Given the description of an element on the screen output the (x, y) to click on. 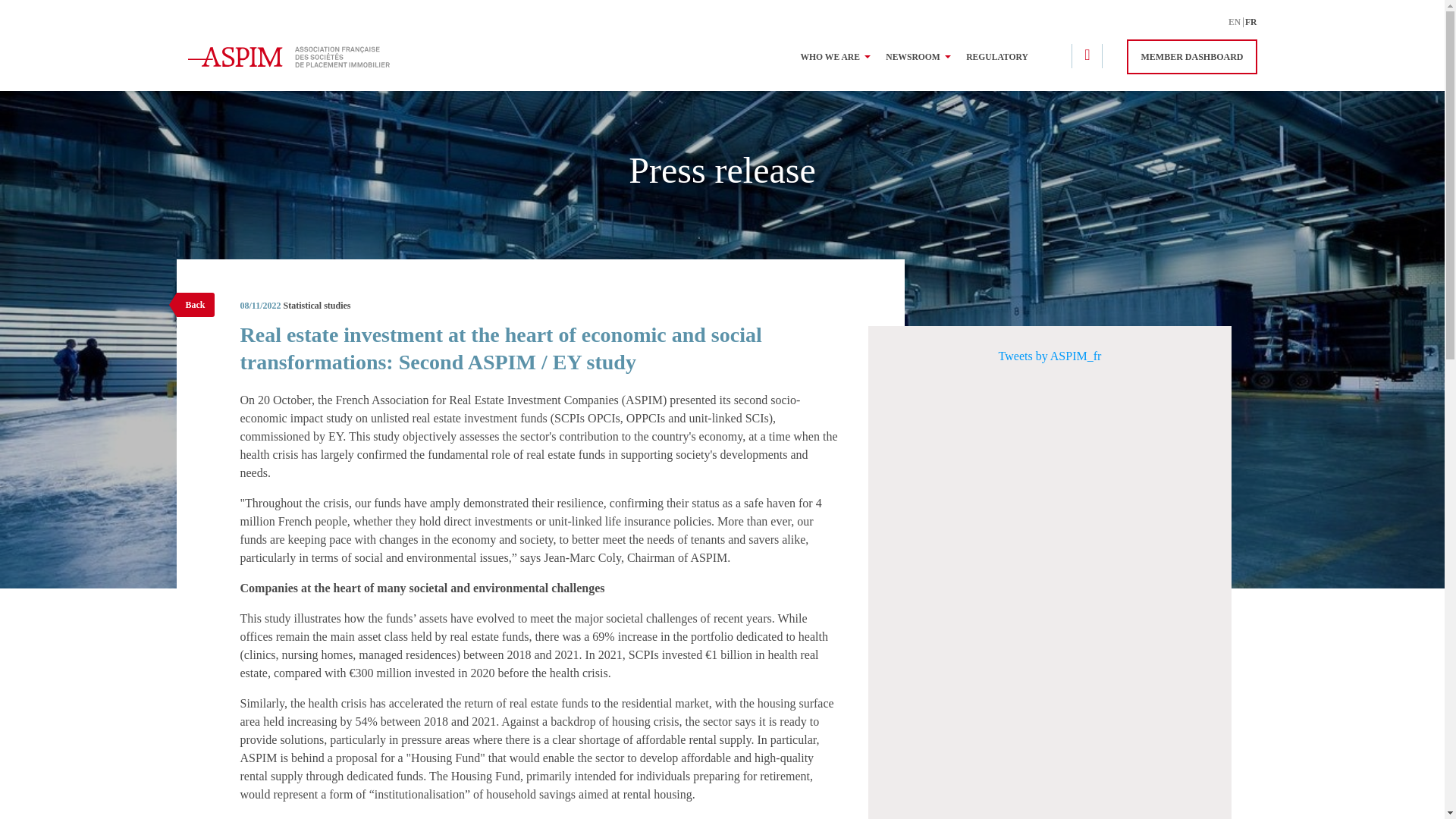
FR (1249, 22)
Back (195, 304)
EN (1235, 22)
Search (1217, 43)
WHO WE ARE (833, 57)
MEMBER DASHBOARD (1191, 56)
REGULATORY (996, 57)
